Given the description of an element on the screen output the (x, y) to click on. 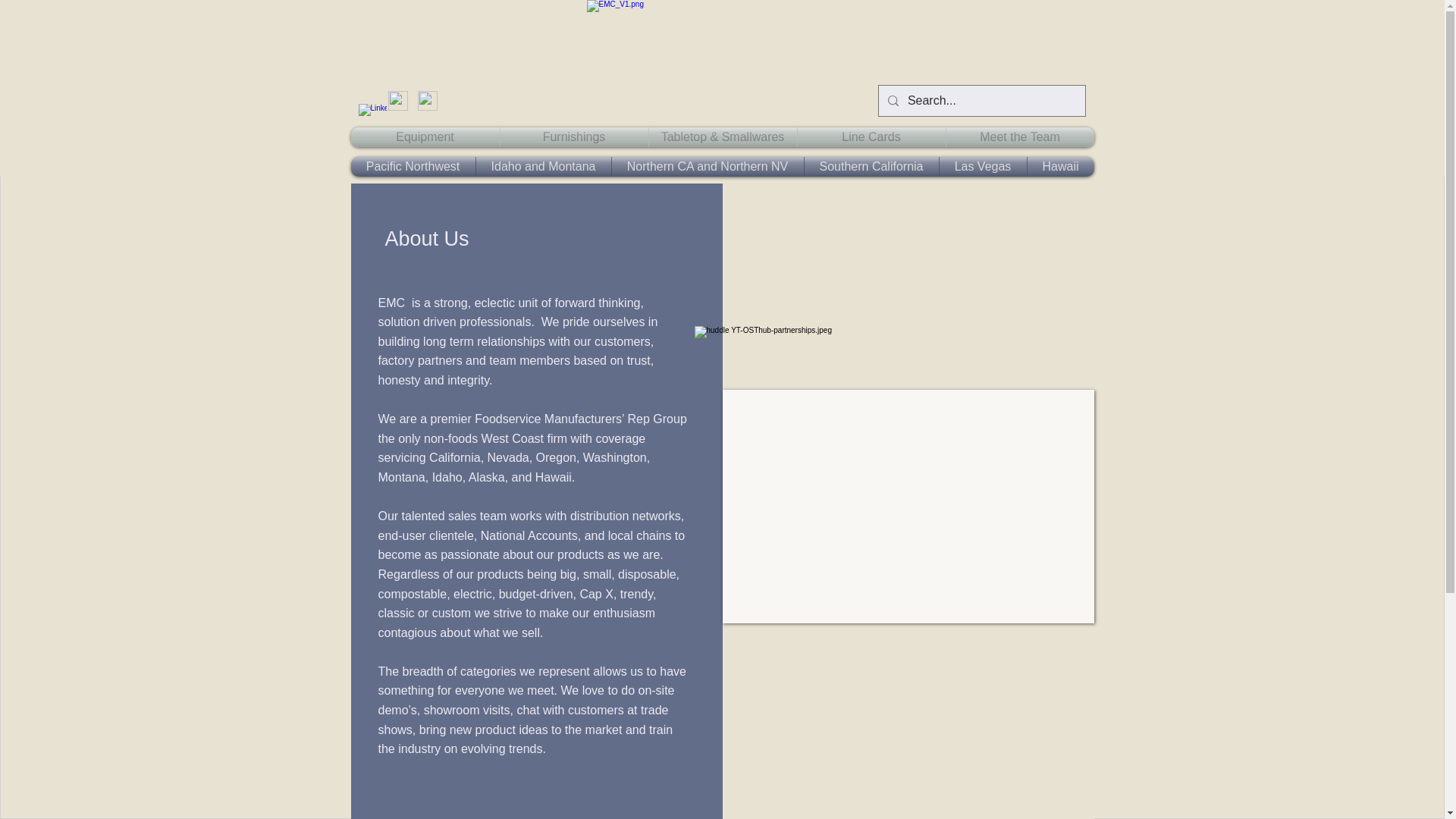
Furnishings (573, 137)
Pacific Northwest (412, 166)
Line Cards (870, 137)
Southern California (870, 166)
Idaho and Montana (543, 166)
Northern CA and Northern NV (707, 166)
Hawaii (1059, 166)
Meet the Team (1020, 137)
Equipment (424, 137)
Las Vegas (982, 166)
